Given the description of an element on the screen output the (x, y) to click on. 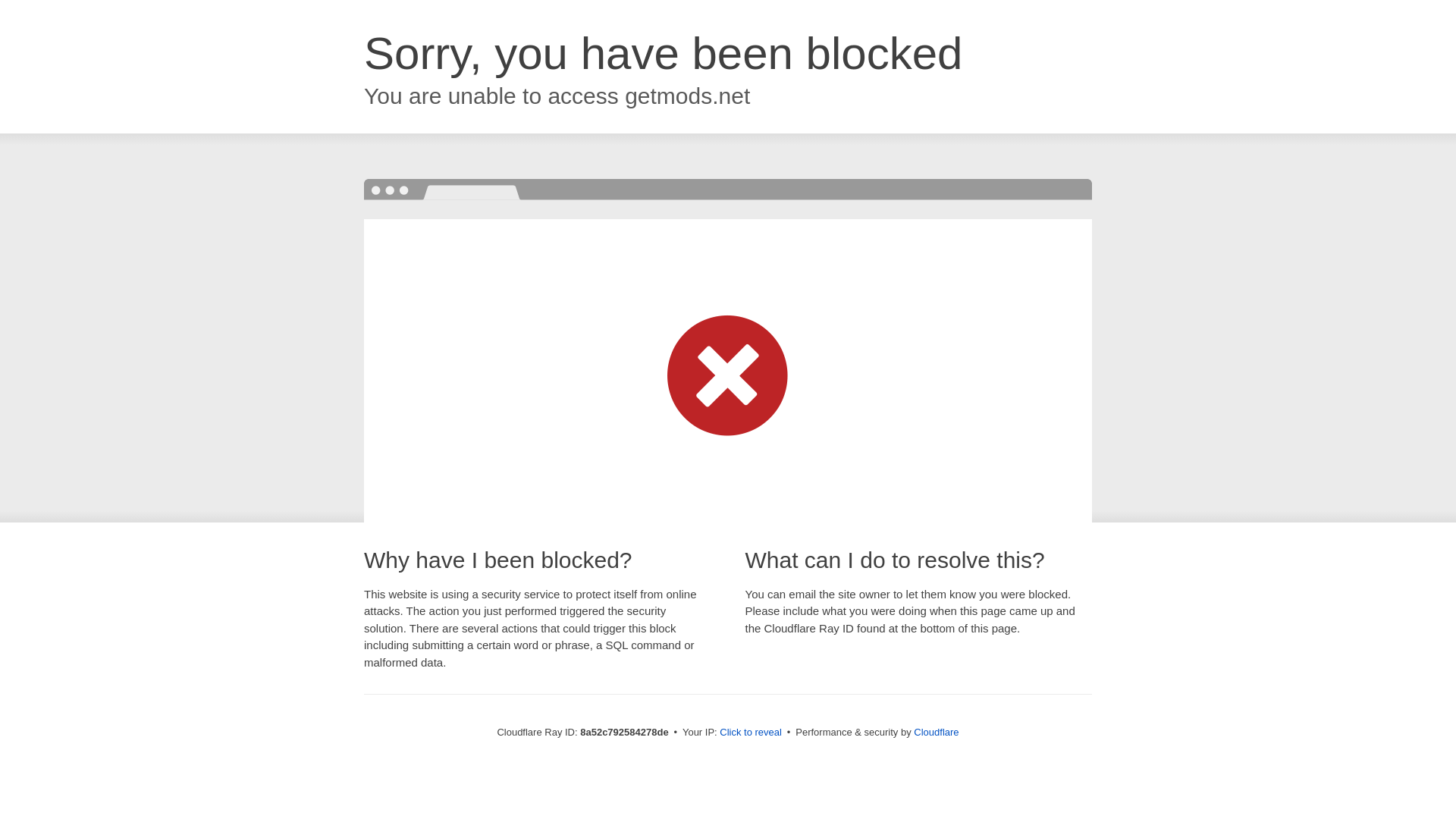
Cloudflare (936, 731)
Click to reveal (750, 732)
